Given the description of an element on the screen output the (x, y) to click on. 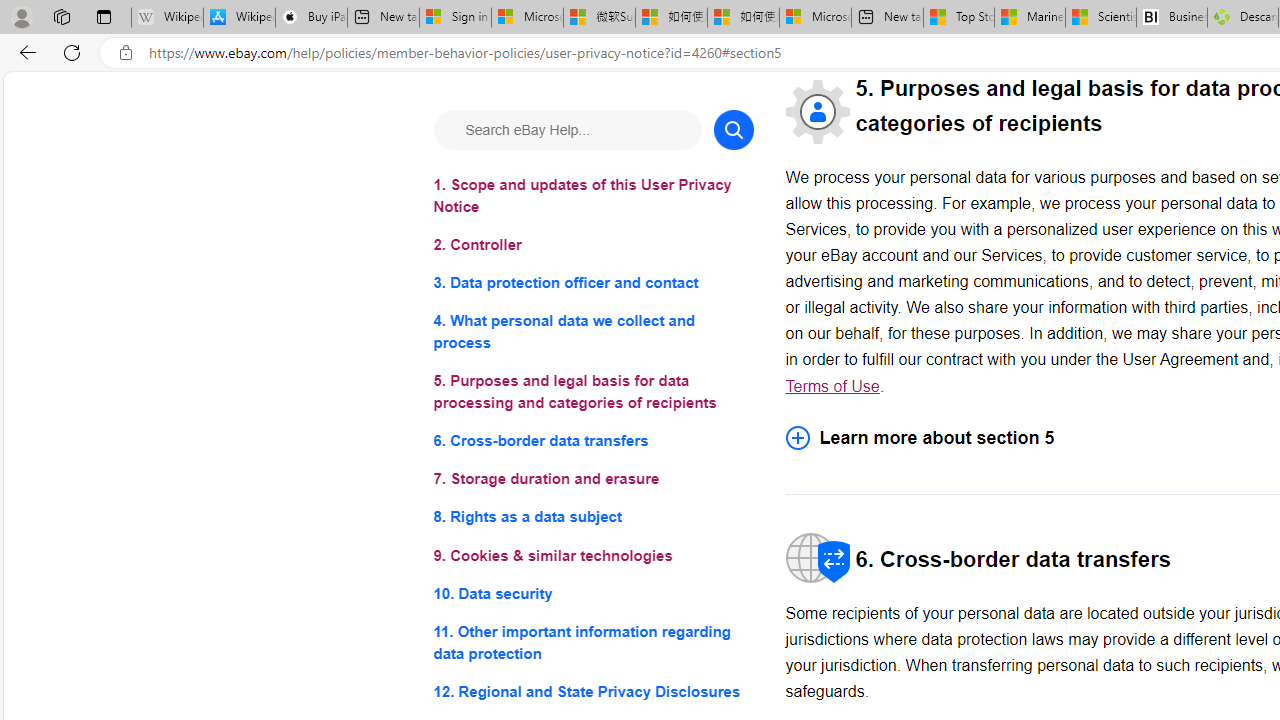
9. Cookies & similar technologies (592, 555)
11. Other important information regarding data protection (592, 642)
1. Scope and updates of this User Privacy Notice (592, 196)
4. What personal data we collect and process (592, 332)
9. Cookies & similar technologies (592, 555)
7. Storage duration and erasure (592, 479)
7. Storage duration and erasure (592, 479)
6. Cross-border data transfers (592, 440)
Search eBay Help... (566, 129)
10. Data security (592, 592)
